Given the description of an element on the screen output the (x, y) to click on. 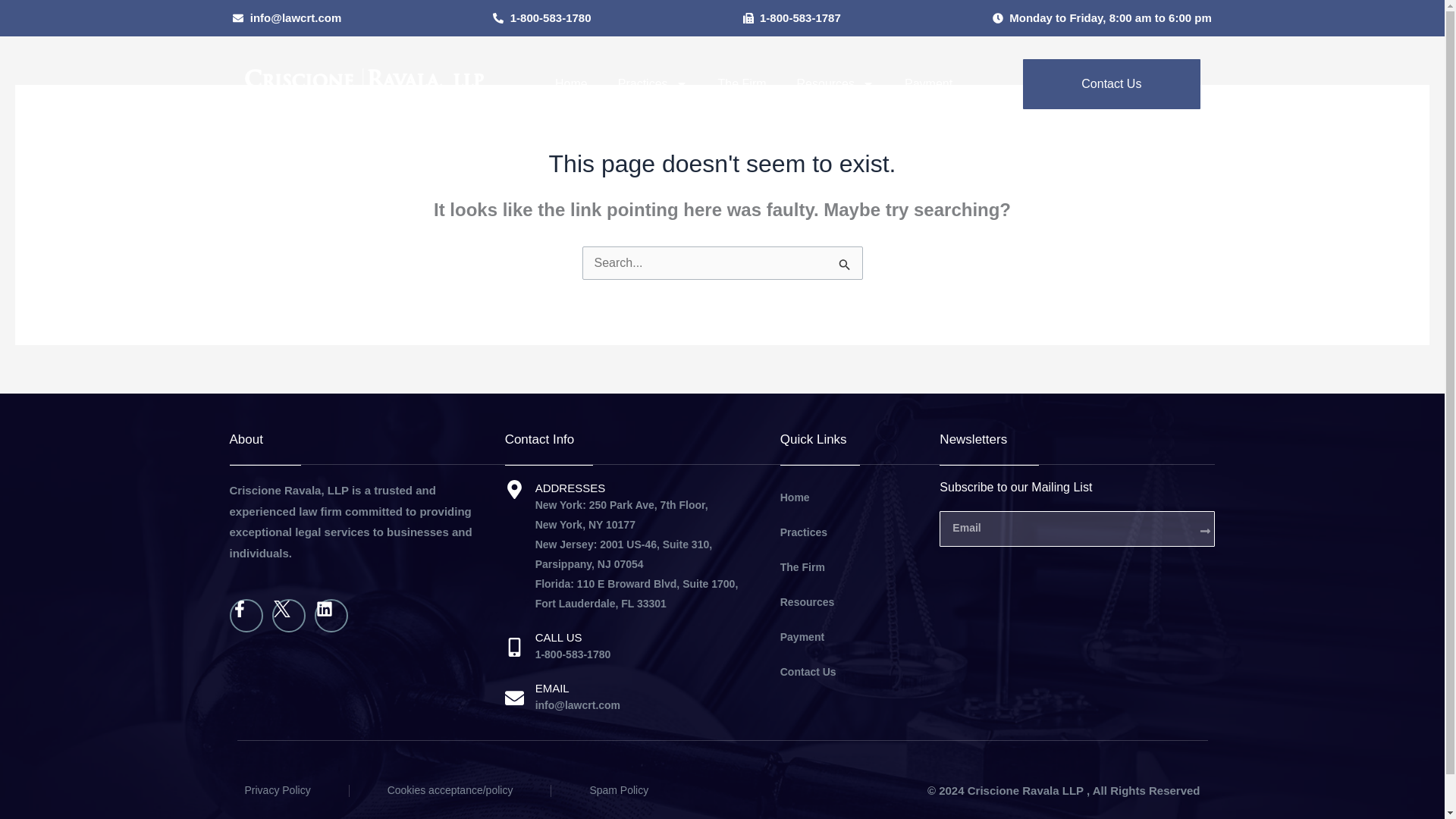
Resources (835, 83)
Practices (652, 83)
Payment (928, 83)
Contact Us (1111, 83)
1-800-583-1780 (542, 17)
The Firm (742, 83)
Home (571, 83)
1-800-583-1787 (791, 17)
